Given the description of an element on the screen output the (x, y) to click on. 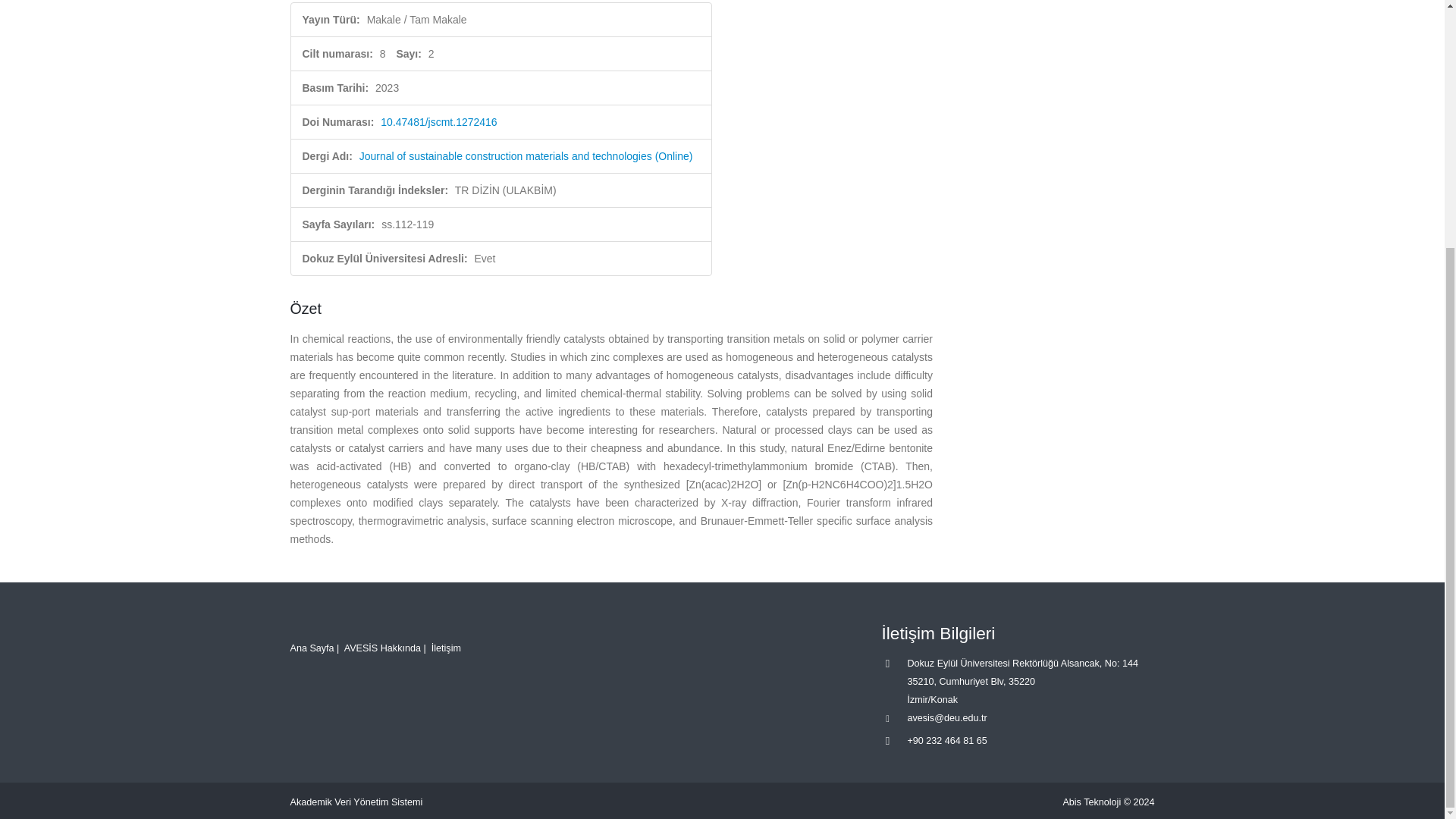
Abis Teknoloji (1091, 801)
Ana Sayfa (311, 647)
